Given the description of an element on the screen output the (x, y) to click on. 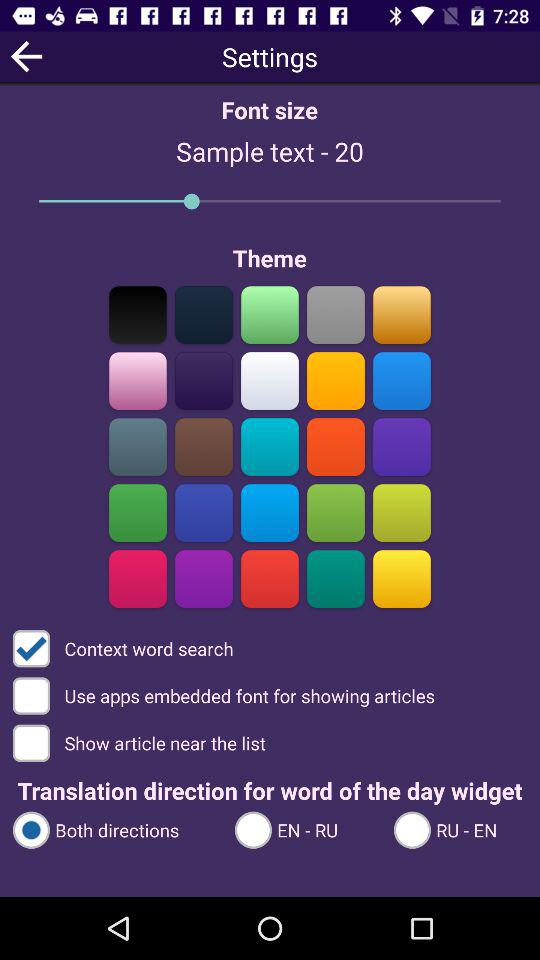
select red theme (269, 578)
